Given the description of an element on the screen output the (x, y) to click on. 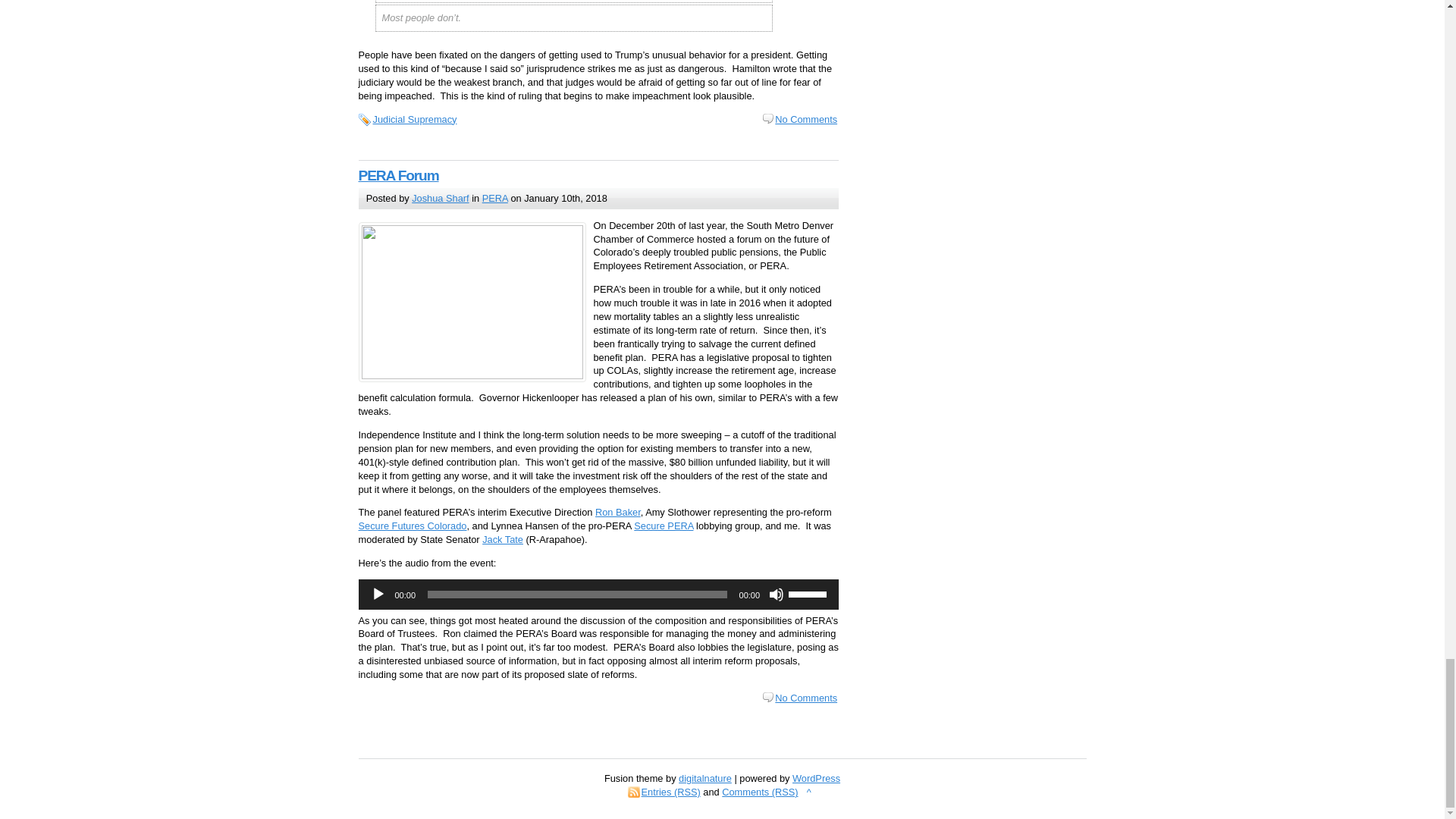
Mute (776, 594)
Posts by Joshua Sharf  (440, 197)
Play (377, 594)
Permanent Link: PERA Forum (398, 175)
